Given the description of an element on the screen output the (x, y) to click on. 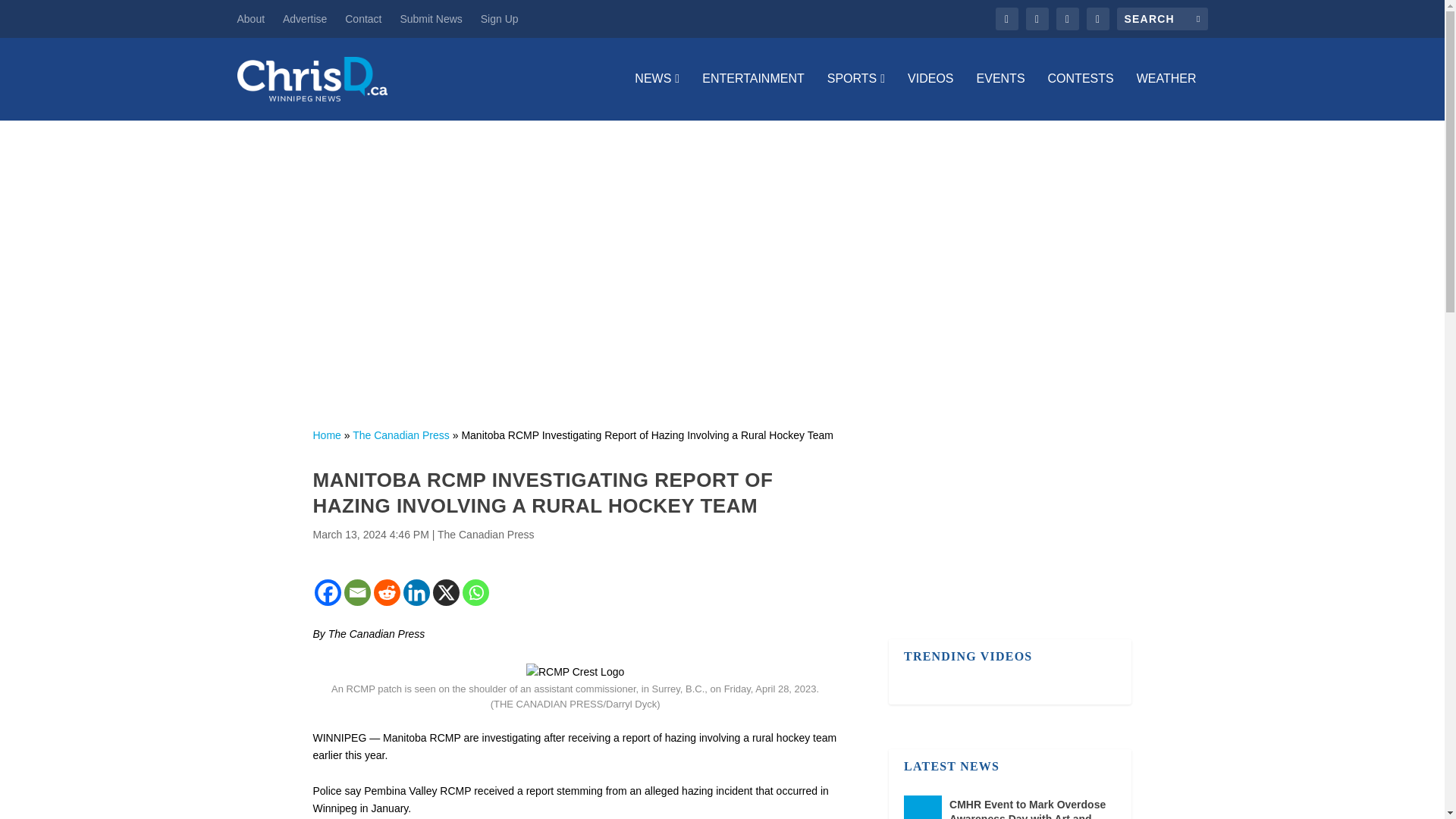
VIDEOS (930, 96)
Home (326, 435)
Contact (363, 18)
Whatsapp (476, 592)
Submit News (429, 18)
ENTERTAINMENT (753, 96)
Advertise (304, 18)
Facebook (327, 592)
The Canadian Press (486, 534)
Email (357, 592)
